Given the description of an element on the screen output the (x, y) to click on. 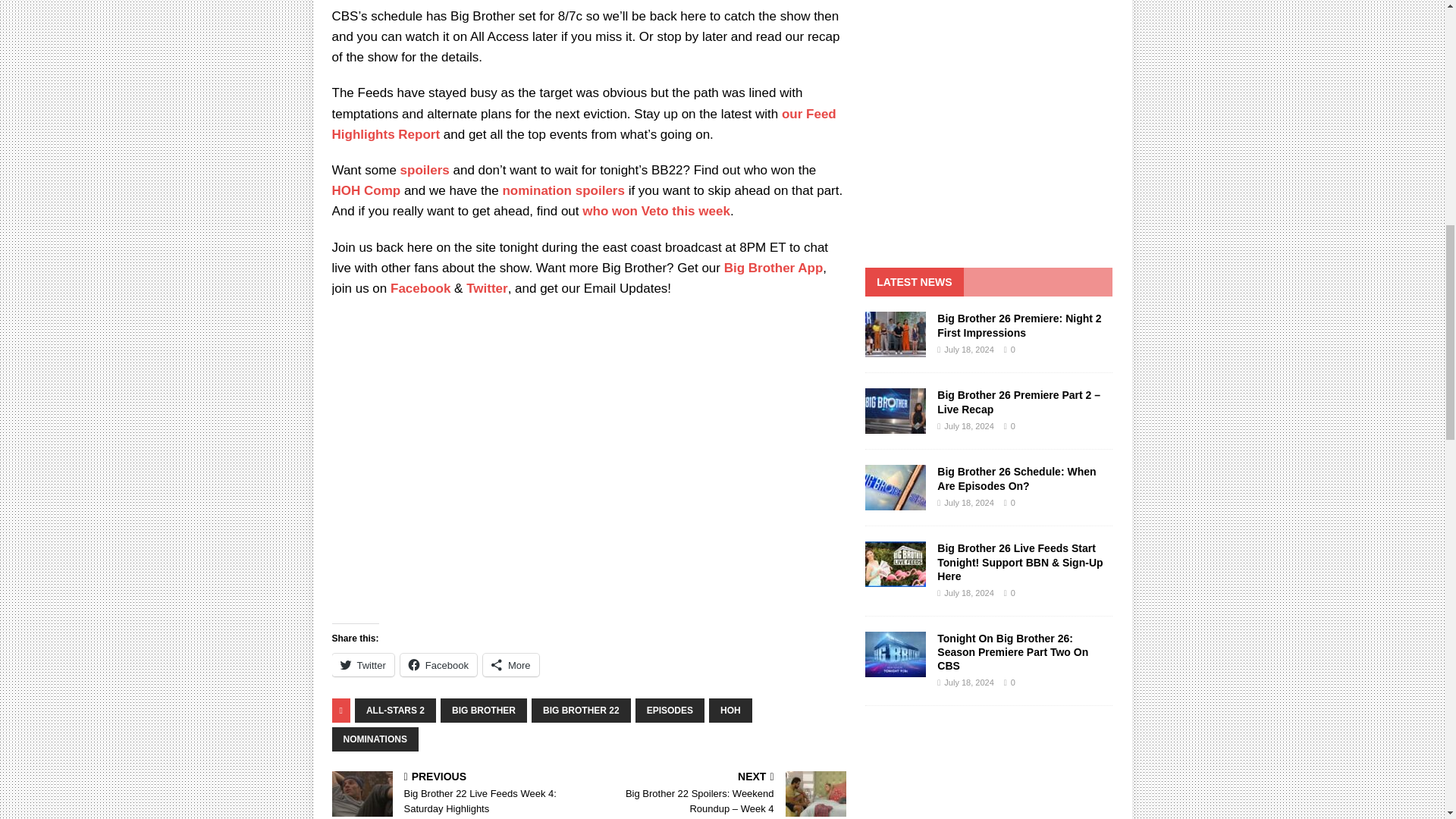
Click to share on Twitter (362, 664)
Click to share on Facebook (438, 664)
Big Brother 26 Premiere: Night 2 First Impressions (895, 334)
Big Brother 26 Premiere: Night 2 First Impressions (1018, 325)
